Given the description of an element on the screen output the (x, y) to click on. 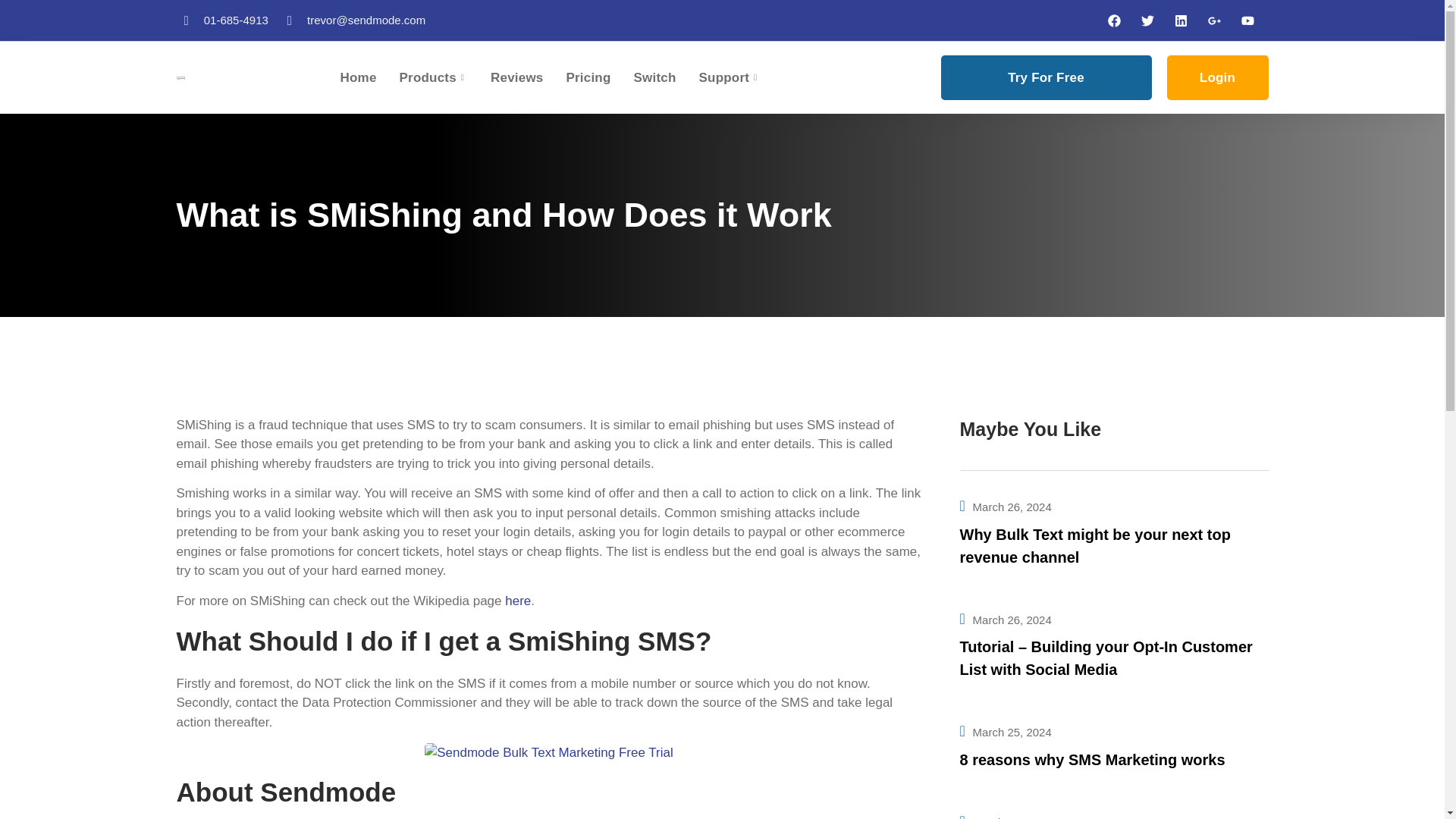
Products (445, 77)
Home (368, 77)
